Given the description of an element on the screen output the (x, y) to click on. 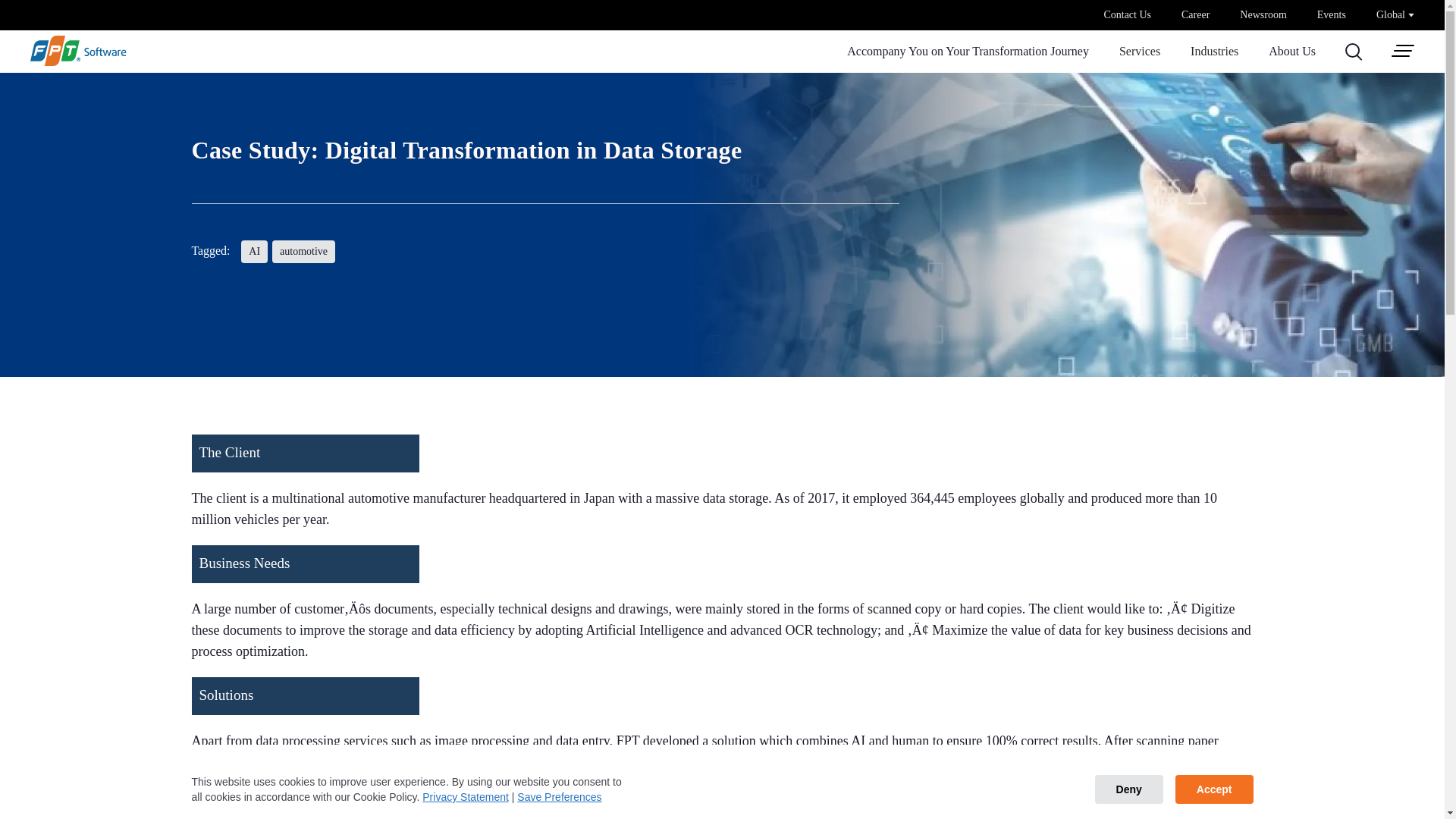
Events (1331, 14)
Career (1194, 14)
Global (1394, 14)
Services (1139, 51)
Accompany You on Your Transformation Journey (968, 51)
Contact Us (1127, 14)
Newsroom (1262, 14)
